Given the description of an element on the screen output the (x, y) to click on. 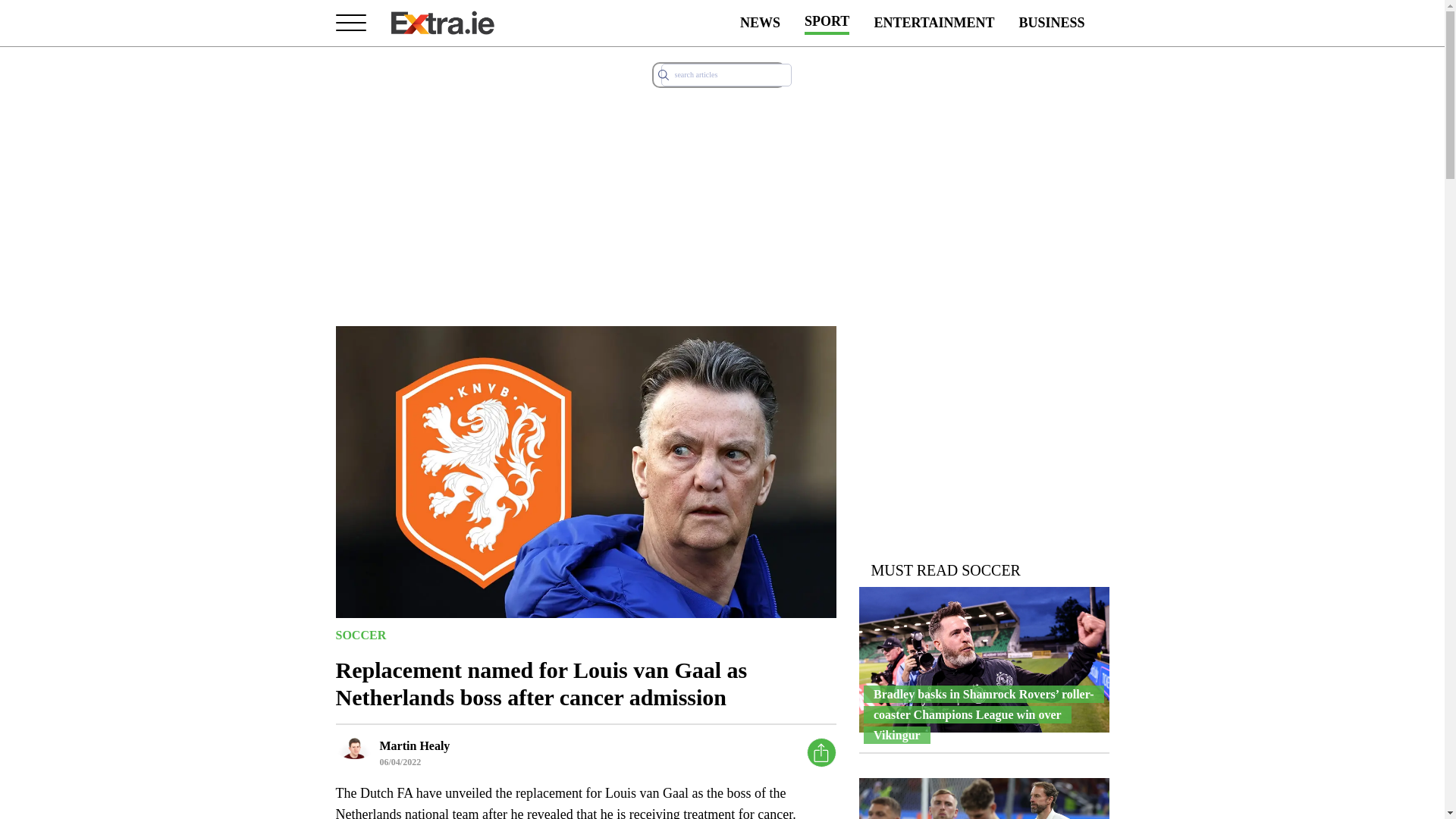
NEWS (759, 23)
Submit the search query (662, 73)
ENTERTAINMENT (933, 23)
BUSINESS (1050, 23)
SPORT (826, 23)
Martin Healy (413, 744)
SOCCER (359, 634)
